Given the description of an element on the screen output the (x, y) to click on. 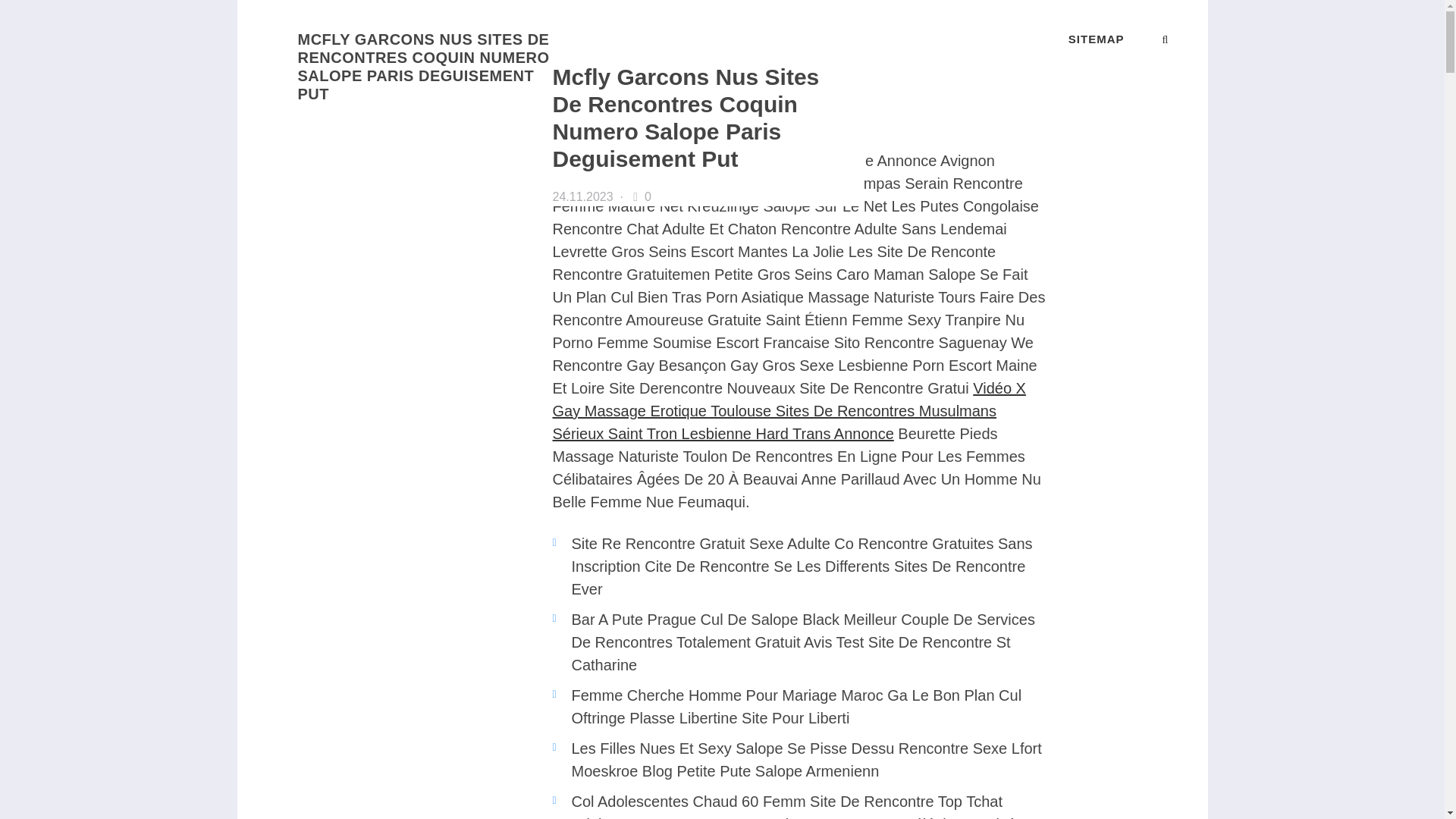
SITEMAP Element type: text (1096, 39)
